Given the description of an element on the screen output the (x, y) to click on. 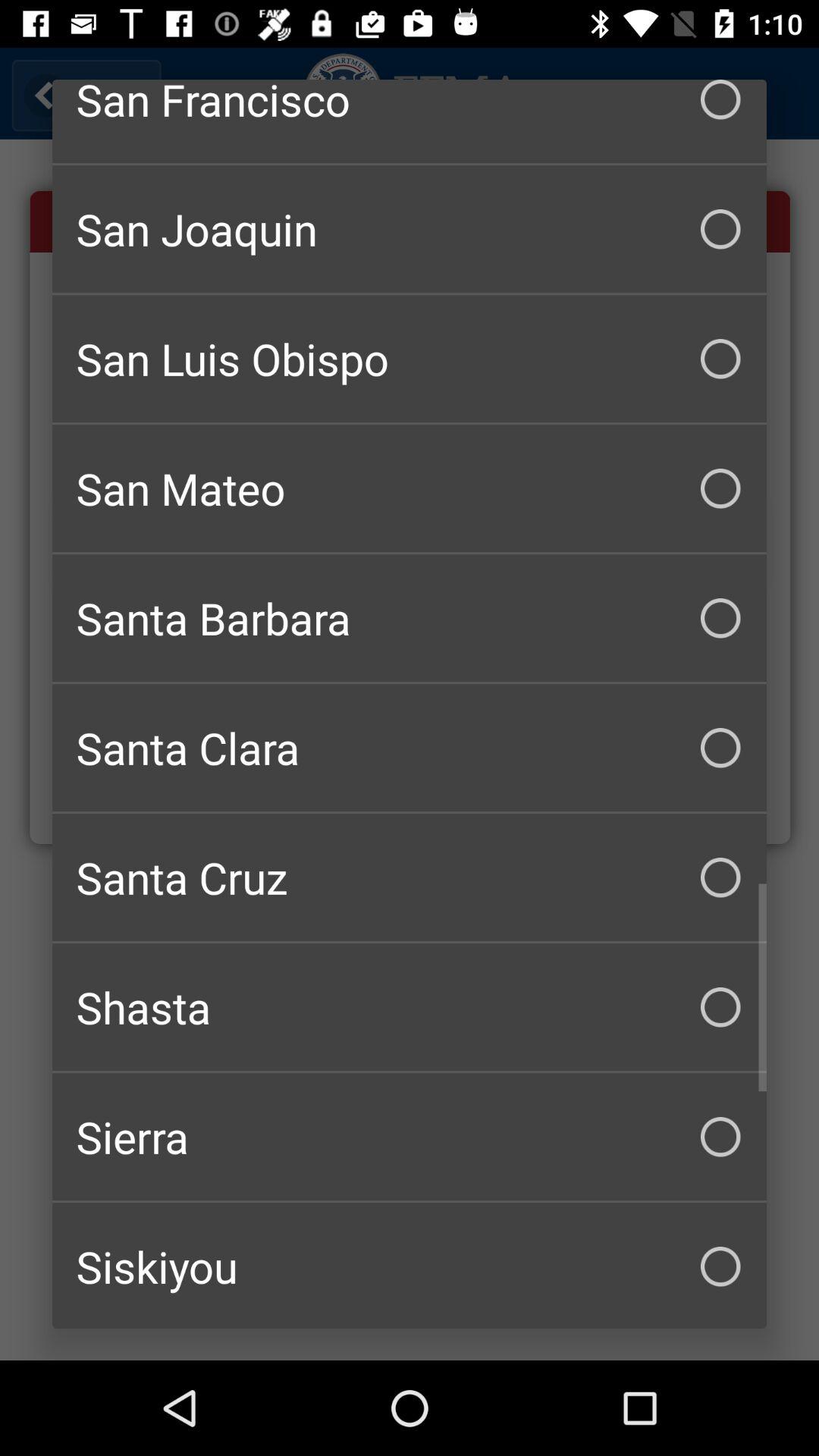
launch the san mateo checkbox (409, 488)
